Given the description of an element on the screen output the (x, y) to click on. 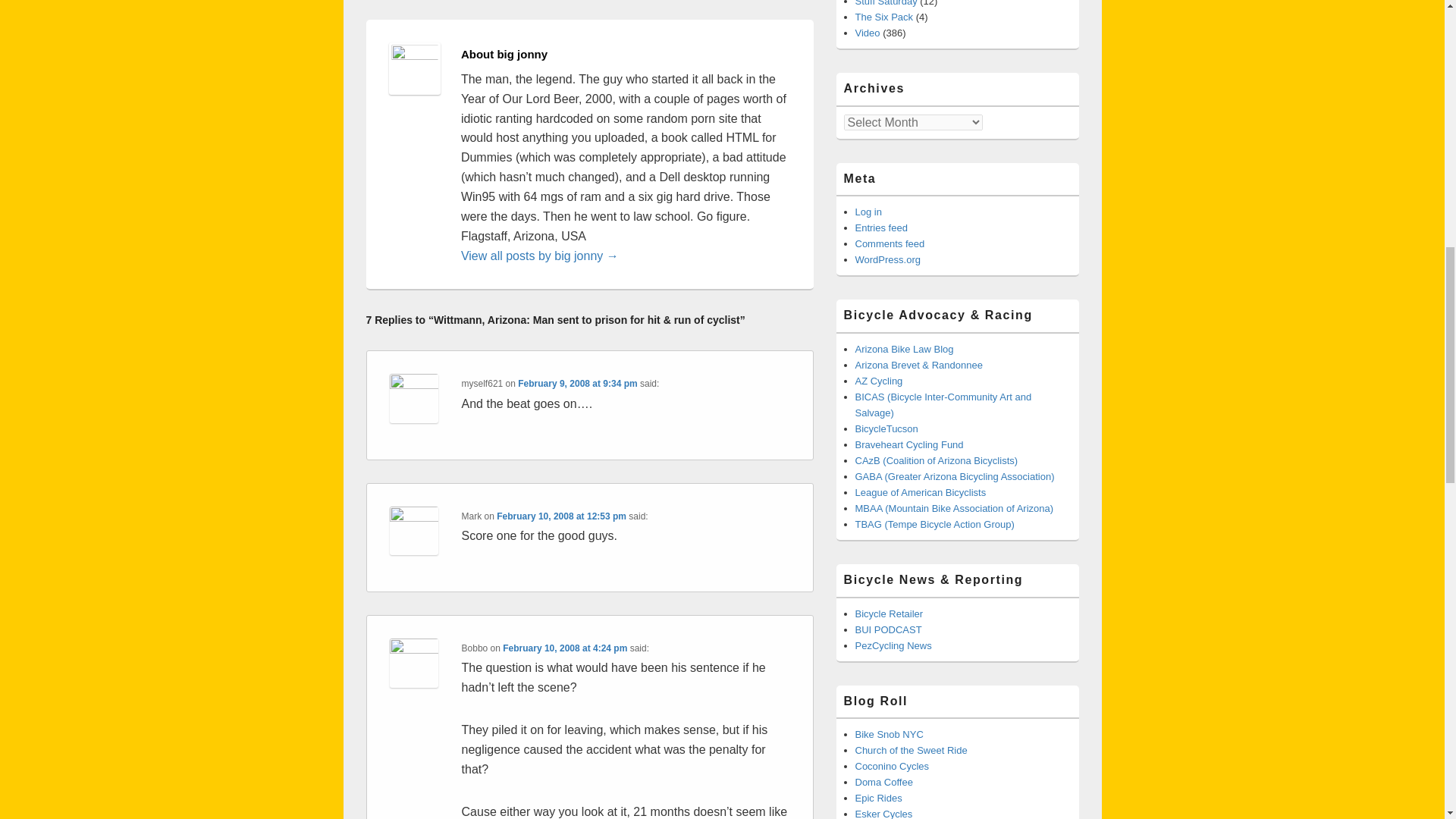
Tempe Bicycle Action Group (935, 523)
February 10, 2008 at 12:53 pm (561, 516)
Arizona USCF Events (879, 380)
February 9, 2008 at 9:34 pm (577, 383)
February 10, 2008 at 4:24 pm (564, 647)
